Given the description of an element on the screen output the (x, y) to click on. 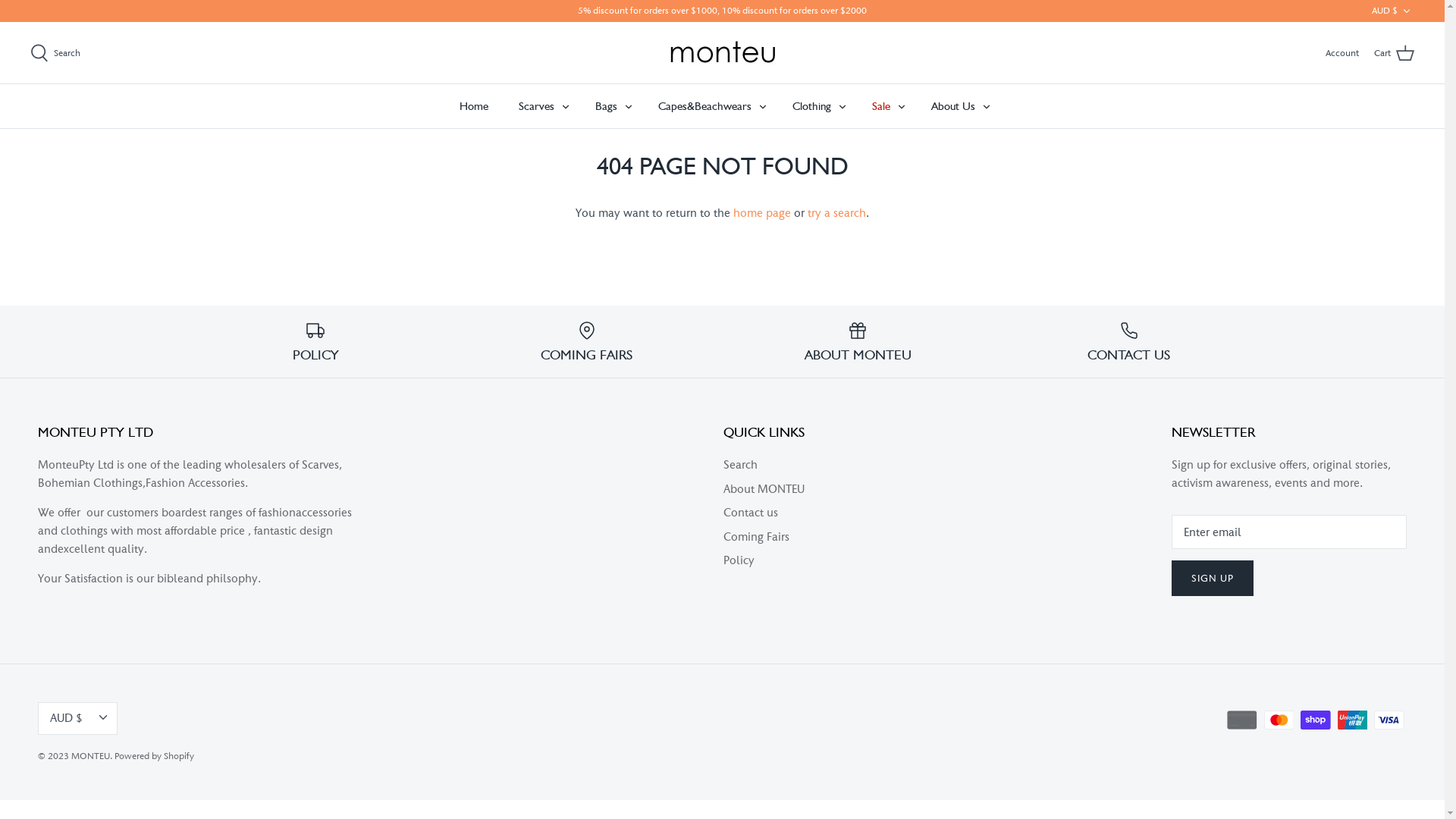
home page Element type: text (761, 212)
Cart Element type: text (1394, 52)
Toggle menu Element type: text (901, 105)
Bags Element type: text (605, 106)
Account Element type: text (1341, 53)
Powered by Shopify Element type: text (154, 755)
CONTACT US Element type: text (1128, 341)
Coming Fairs Element type: text (756, 536)
POLICY Element type: text (315, 341)
try a search Element type: text (836, 212)
SIGN UP Element type: text (1212, 578)
MONTEU Element type: hover (722, 52)
MONTEU Element type: text (90, 755)
Toggle menu Element type: text (986, 105)
About Us Element type: text (952, 106)
Scarves Element type: text (536, 106)
Toggle menu Element type: text (628, 105)
Toggle menu Element type: text (564, 105)
Sale Element type: text (880, 106)
COMING FAIRS Element type: text (586, 341)
Search Element type: text (740, 464)
Toggle menu Element type: text (842, 105)
Toggle menu Element type: text (761, 105)
Search Element type: text (55, 52)
Policy Element type: text (738, 559)
Contact us Element type: text (750, 512)
Home Element type: text (473, 106)
ABOUT MONTEU Element type: text (858, 341)
AUD $
Down Element type: text (77, 718)
About MONTEU Element type: text (763, 488)
Clothing Element type: text (811, 106)
AUD $
Down Element type: text (1392, 10)
Capes&Beachwears Element type: text (704, 106)
